Given the description of an element on the screen output the (x, y) to click on. 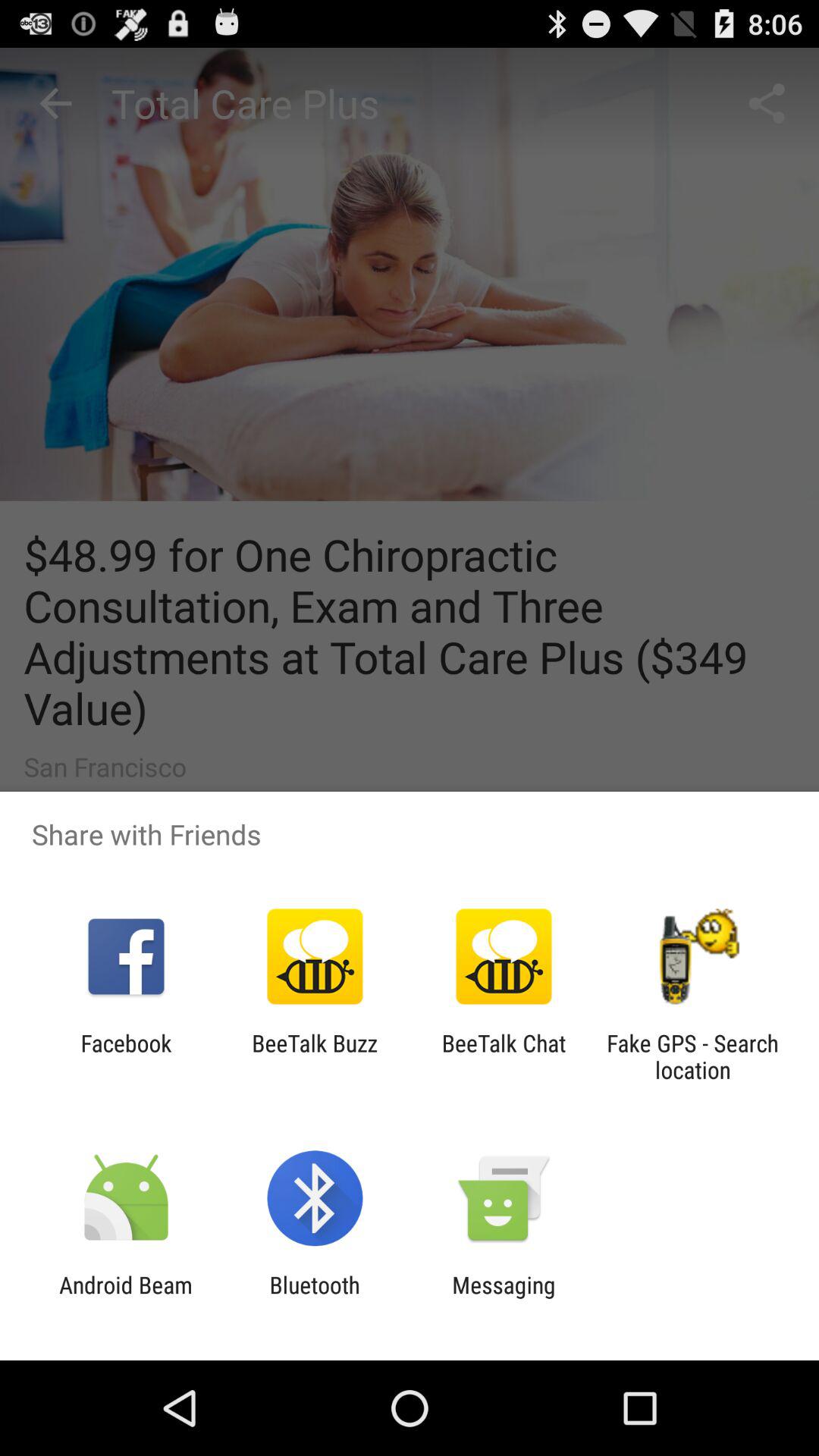
launch app next to the fake gps search (503, 1056)
